Given the description of an element on the screen output the (x, y) to click on. 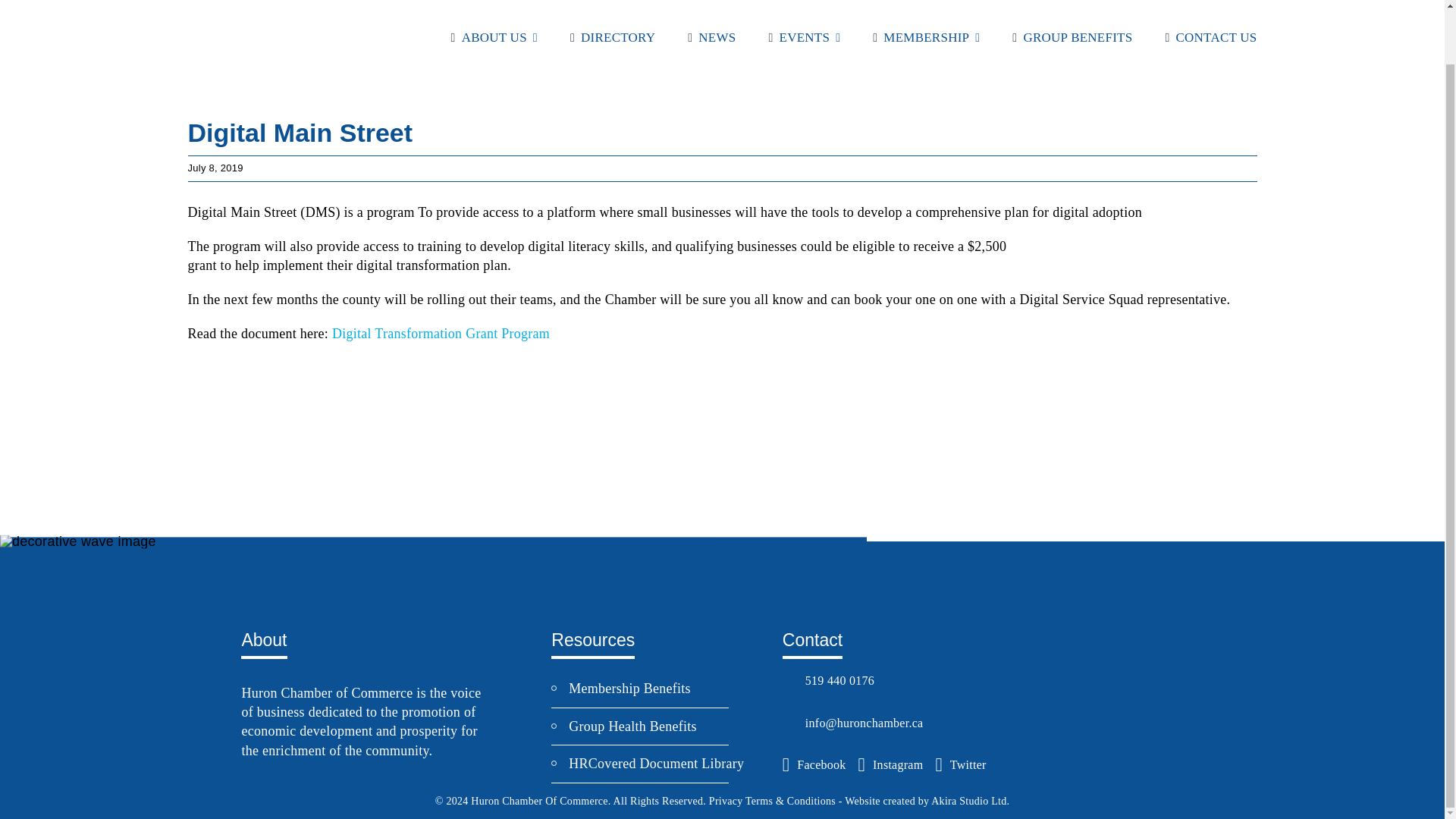
Digital Transformation Grant Program (440, 333)
decorative wave image (77, 540)
GROUP BENEFITS (1069, 37)
DIRECTORY (609, 37)
EVENTS (800, 37)
Facebook (814, 764)
Membership Benefits (629, 688)
MEMBERSHIP (922, 37)
NEWS (708, 37)
519 440 0176 (876, 680)
